Given the description of an element on the screen output the (x, y) to click on. 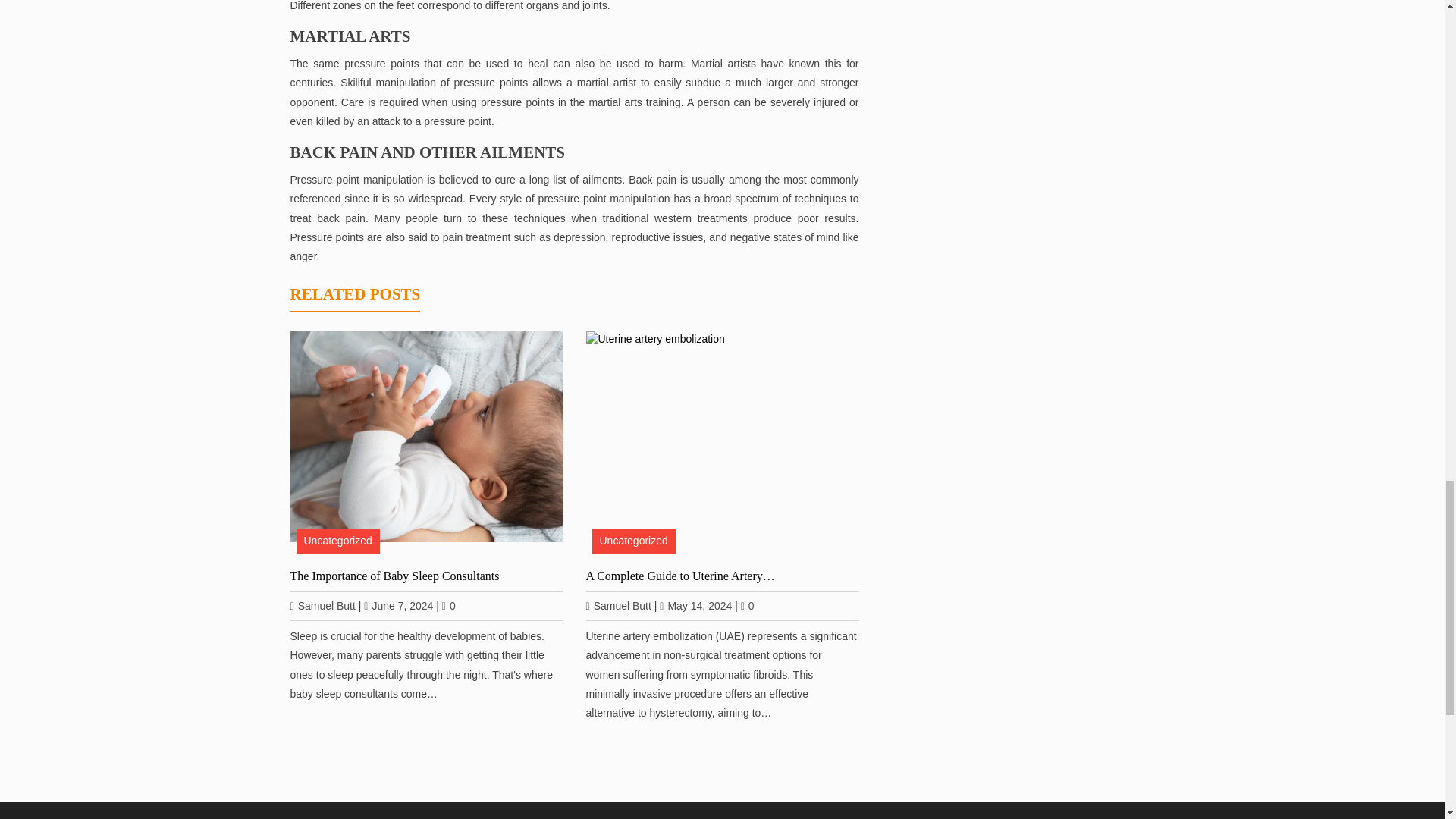
May 14, 2024 (695, 605)
0 (448, 605)
Uncategorized (633, 540)
The Importance of Baby Sleep Consultants (425, 575)
0 (747, 605)
June 7, 2024 (398, 605)
Uncategorized (336, 540)
Samuel Butt (322, 605)
Samuel Butt (617, 605)
